Given the description of an element on the screen output the (x, y) to click on. 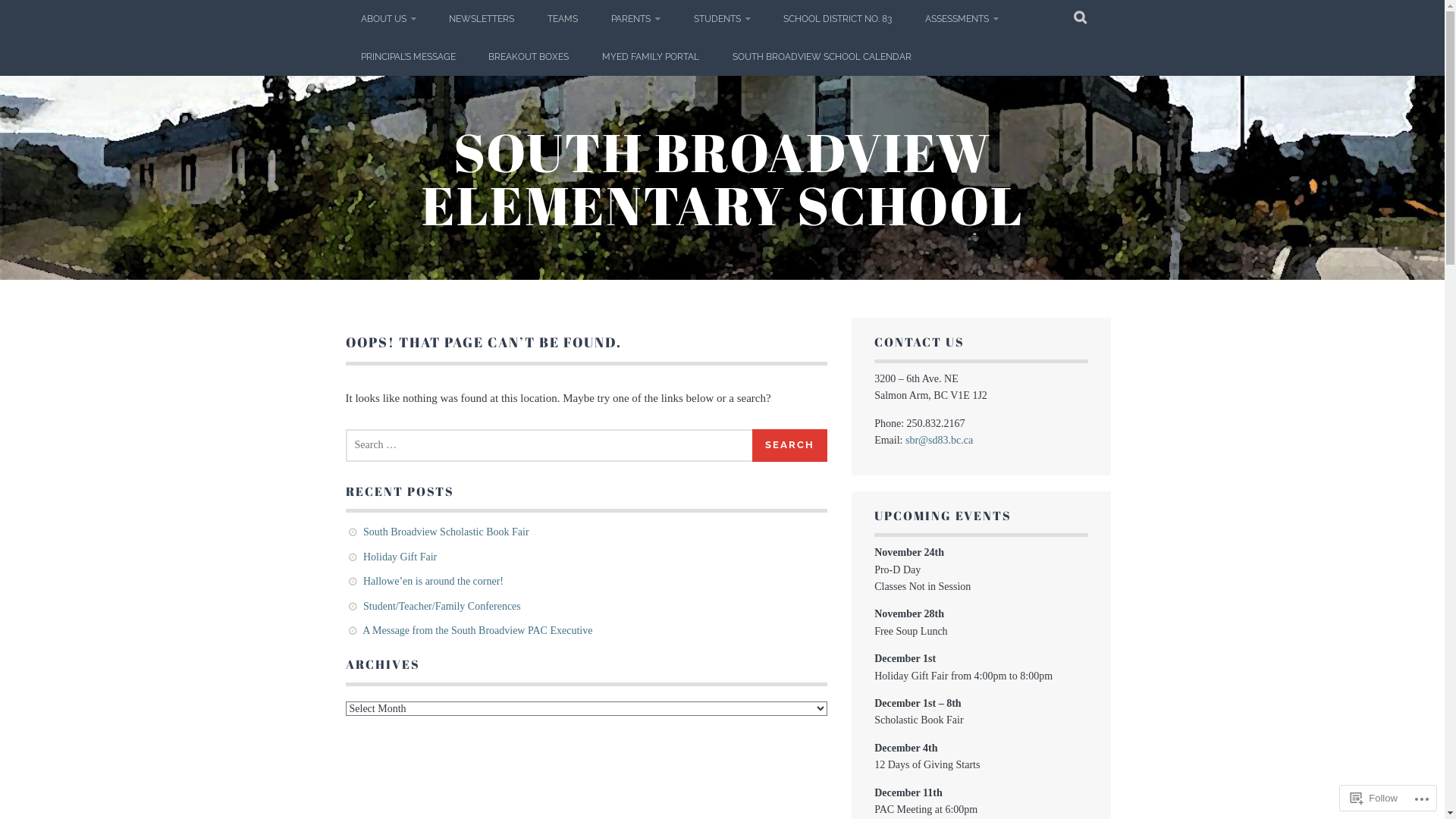
STUDENTS Element type: text (721, 18)
BREAKOUT BOXES Element type: text (528, 56)
Student/Teacher/Family Conferences Element type: text (441, 605)
SOUTH BROADVIEW ELEMENTARY SCHOOL Element type: text (722, 178)
Holiday Gift Fair Element type: text (399, 556)
Search Element type: text (789, 445)
ABOUT US Element type: text (388, 18)
South Broadview Scholastic Book Fair Element type: text (446, 531)
ASSESSMENTS Element type: text (961, 18)
NEWSLETTERS Element type: text (481, 18)
SCHOOL DISTRICT NO. 83 Element type: text (837, 18)
Follow Element type: text (1373, 797)
SOUTH BROADVIEW SCHOOL CALENDAR Element type: text (821, 56)
MYED FAMILY PORTAL Element type: text (650, 56)
PARENTS Element type: text (635, 18)
TEAMS Element type: text (562, 18)
sbr@sd83.bc.ca Element type: text (938, 439)
A Message from the South Broadview PAC Executive Element type: text (477, 630)
